Given the description of an element on the screen output the (x, y) to click on. 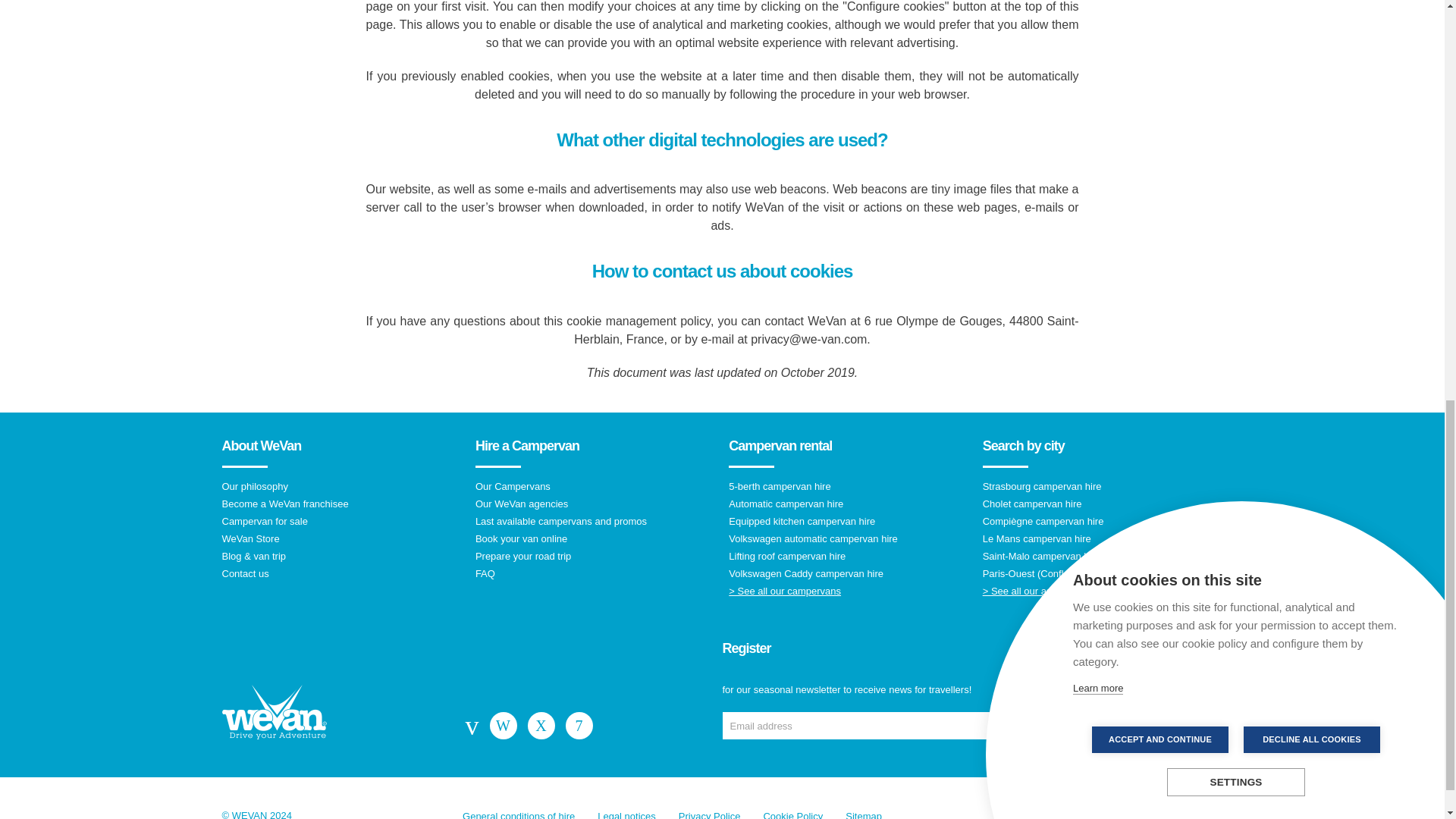
Become a WeVan franchisee (341, 503)
WeVan Store (341, 538)
Prepare your road trip (596, 556)
Automatic campervan hire (849, 503)
Contact us (341, 573)
Our philosophy (341, 486)
Volkswagen Caddy campervan hire (849, 573)
Strasbourg campervan hire (1102, 486)
Cholet campervan hire (1102, 503)
Last available campervans and promos (596, 521)
Our Campervans (596, 486)
Equipped kitchen campervan hire (849, 521)
Le Mans campervan hire (1102, 538)
Volkswagen automatic campervan hire (849, 538)
Book your van online (596, 538)
